Given the description of an element on the screen output the (x, y) to click on. 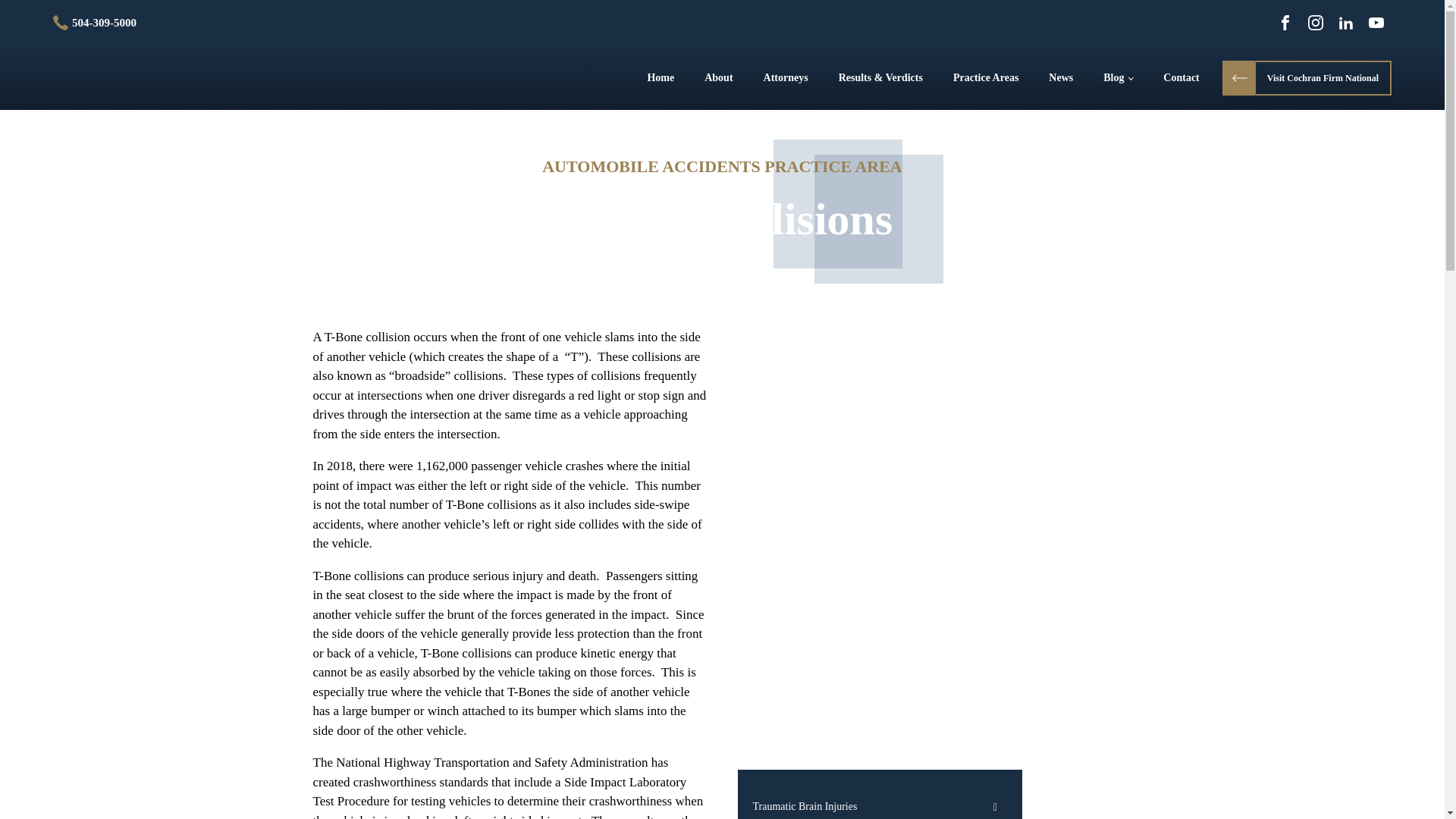
Blog (1117, 77)
Practice Areas (985, 77)
About (718, 77)
Attorneys (786, 77)
Contact (1181, 77)
Traumatic Brain Injuries (879, 801)
Home (659, 77)
504-309-5000 (94, 22)
AUTOMOBILE ACCIDENTS (650, 166)
Visit Cochran Firm National (1307, 77)
